Given the description of an element on the screen output the (x, y) to click on. 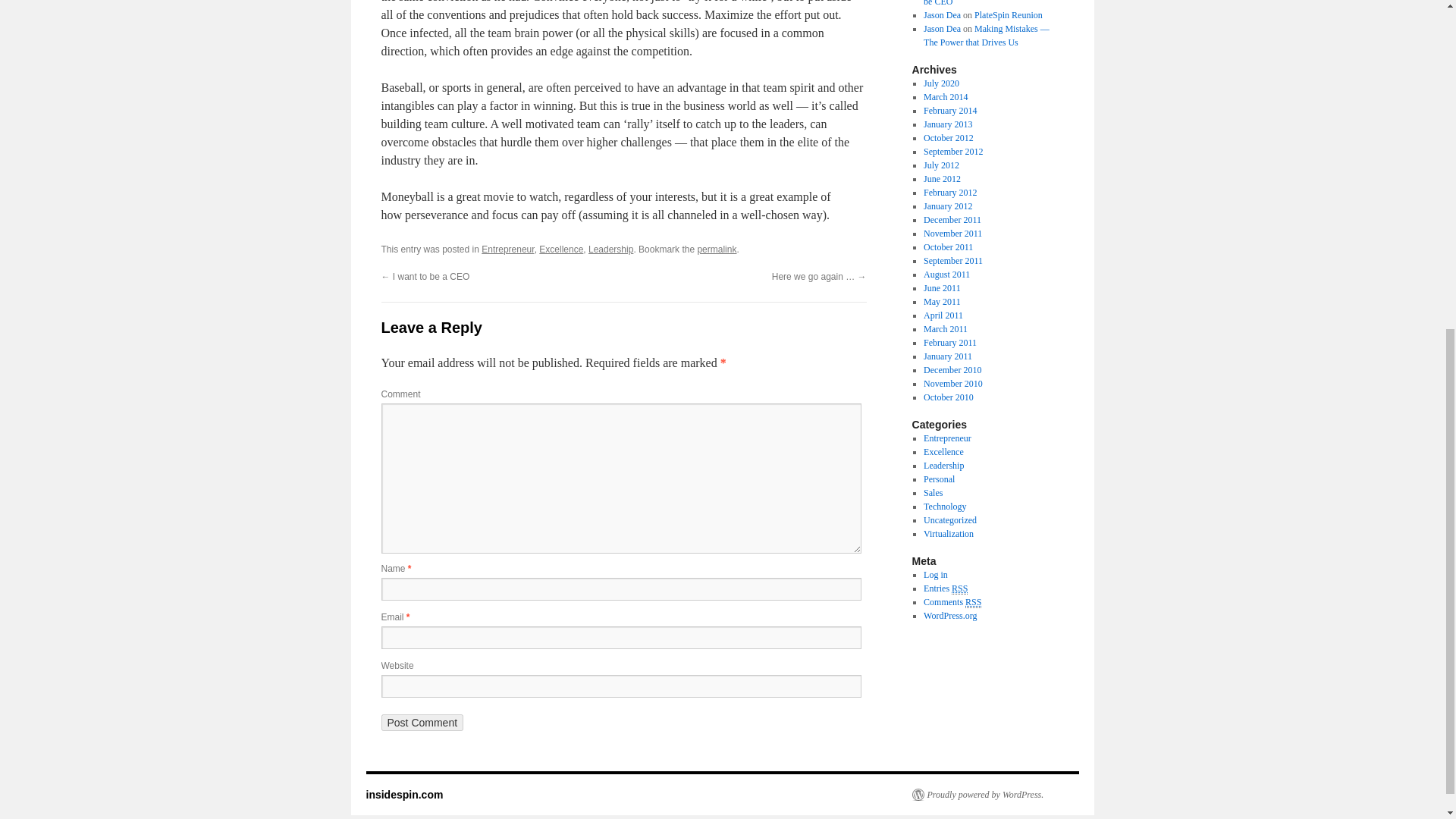
February 2014 (949, 110)
Jason Dea (941, 28)
Really Simple Syndication (960, 588)
Really Simple Syndication (973, 602)
permalink (716, 249)
Excellence (560, 249)
Leadership (610, 249)
Post Comment (421, 722)
Entrepreneur (507, 249)
Semantic Personal Publishing Platform (977, 794)
October 2012 (948, 137)
March 2014 (945, 96)
Post Comment (421, 722)
June 2012 (941, 178)
